Given the description of an element on the screen output the (x, y) to click on. 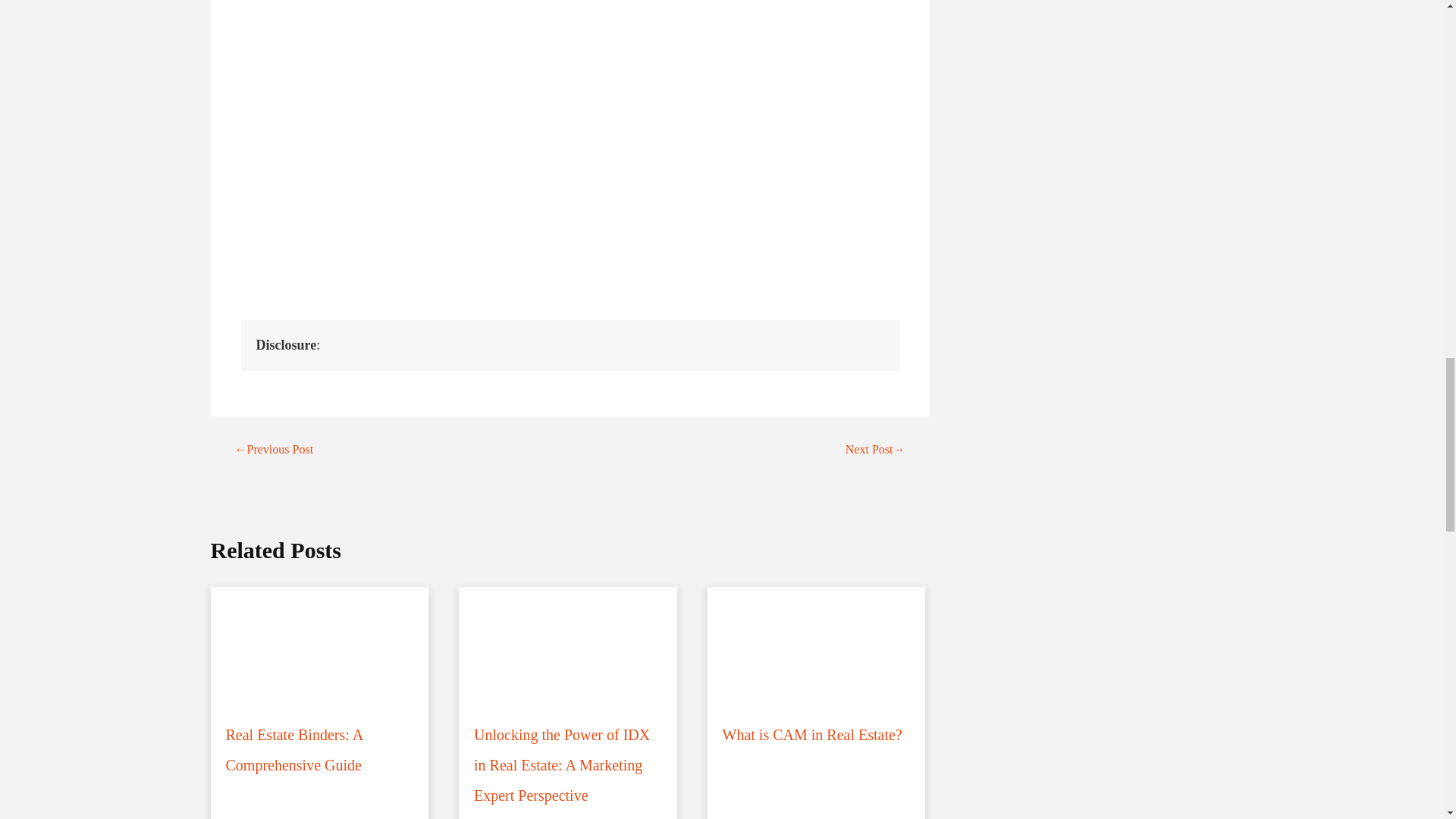
Real Estate Binders: A Comprehensive Guide (320, 691)
Real Estate Binders: A Comprehensive Guide (320, 691)
Real Estate Binders: A Comprehensive Guide 1 (320, 647)
What is CAM in Real Estate? (816, 675)
10 Proven Portable Restroom Rental Tips (483, 153)
What is CAM in Real Estate? (816, 675)
What is CAM in Real Estate? 3 (816, 647)
